Given the description of an element on the screen output the (x, y) to click on. 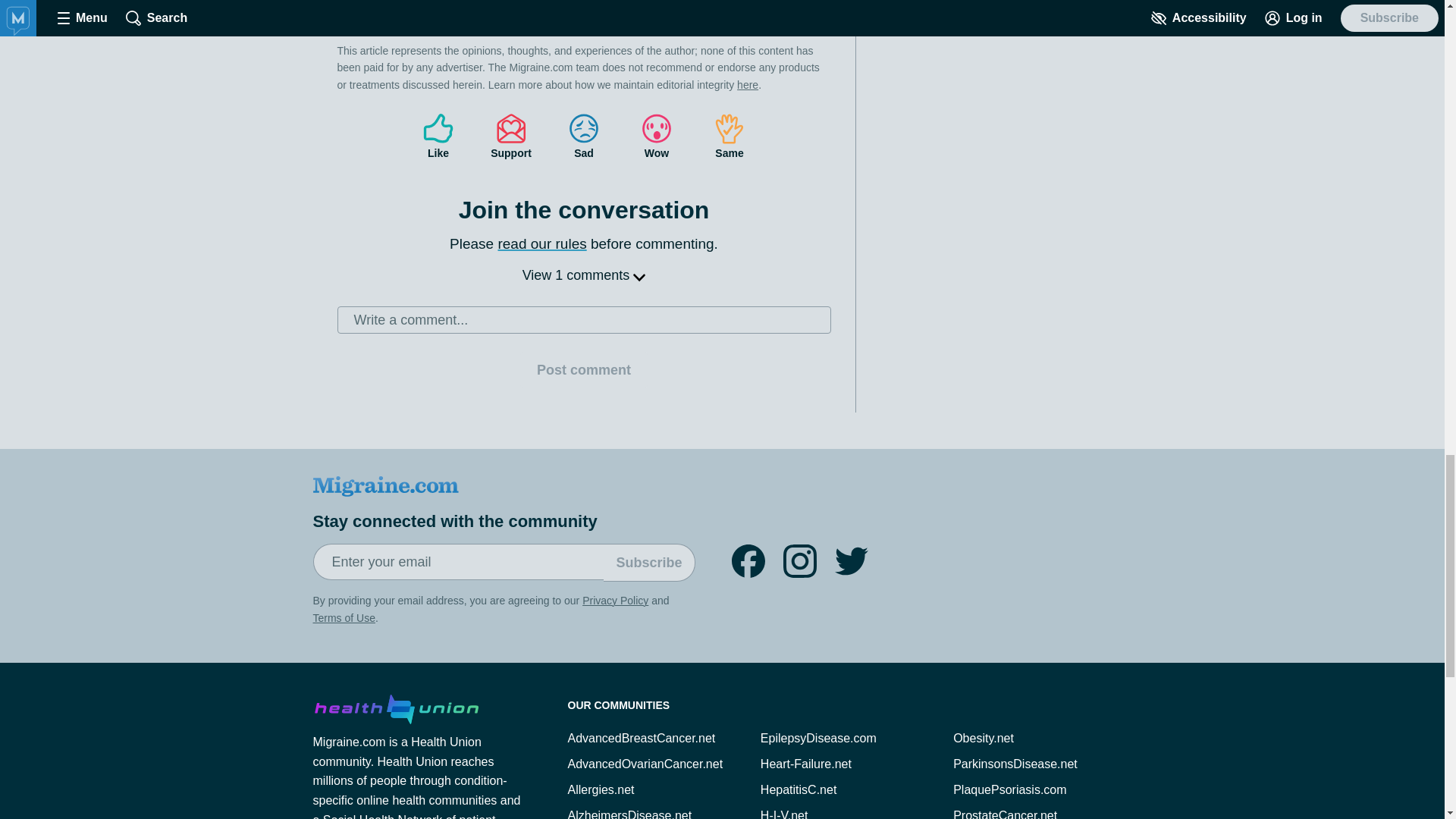
Follow us on instagram (799, 561)
Subscribe (649, 562)
Privacy Policy (614, 600)
Follow us on facebook (747, 561)
View 1 comments caret icon (584, 275)
Sad (583, 136)
Terms of Use (343, 617)
Like (437, 136)
Wow (656, 136)
caret icon (639, 276)
